Given the description of an element on the screen output the (x, y) to click on. 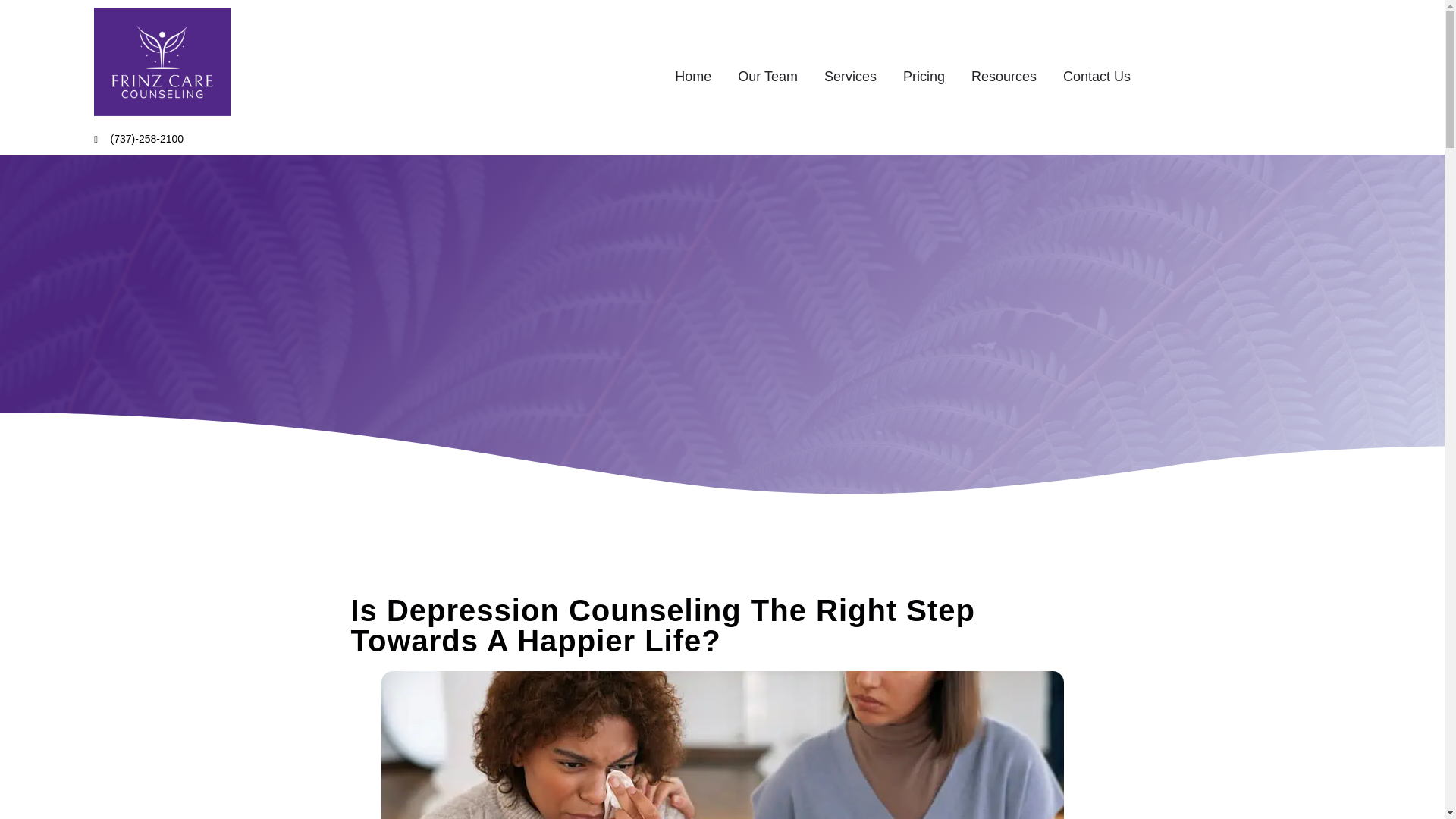
Our Team (767, 76)
Services (850, 76)
Pricing (923, 76)
Resources (1003, 76)
Contact Us (1096, 76)
